Given the description of an element on the screen output the (x, y) to click on. 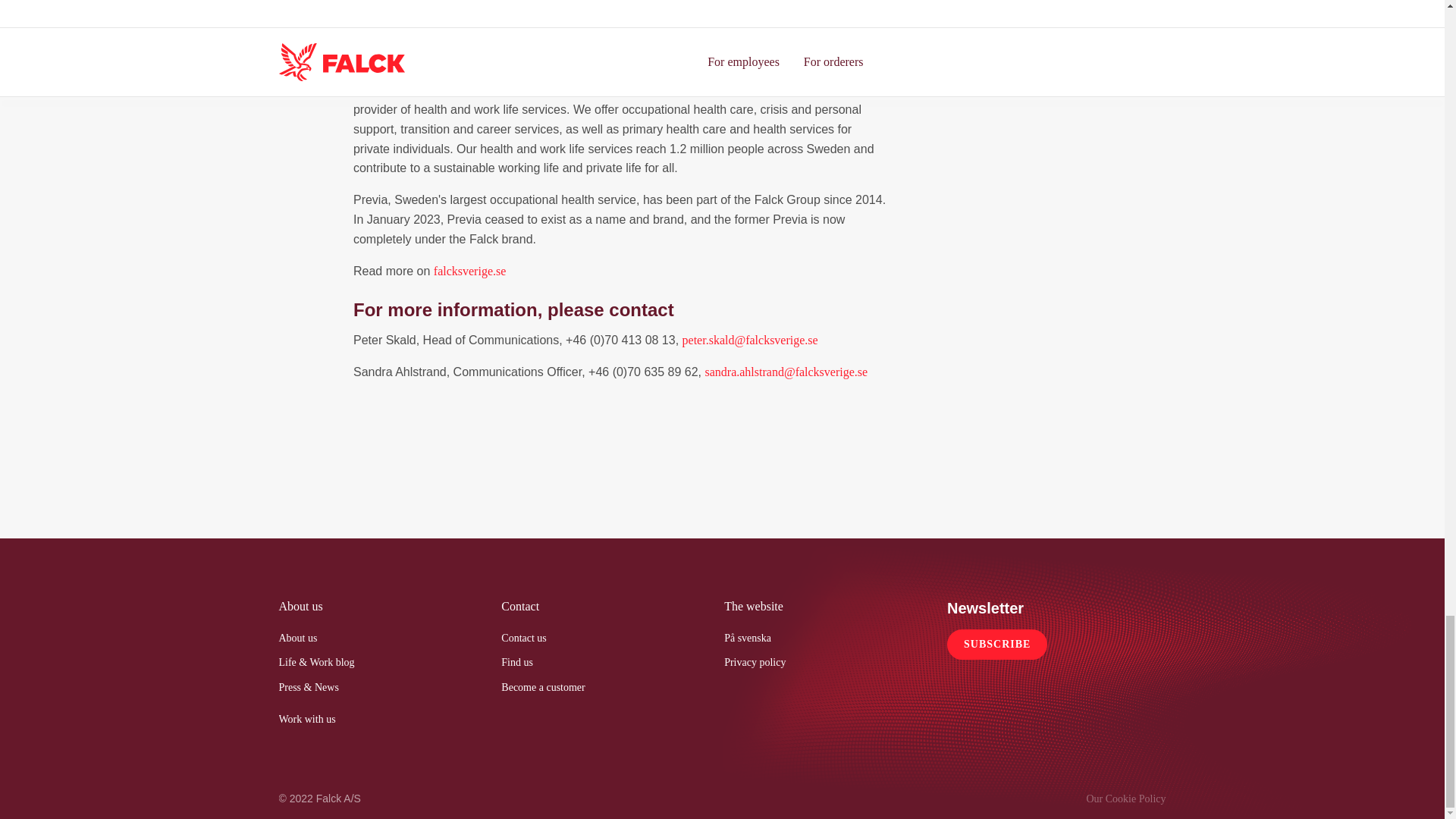
Falck i Sverige (469, 270)
About us (298, 637)
Work with us (307, 718)
falcksverige.se (469, 270)
